Given the description of an element on the screen output the (x, y) to click on. 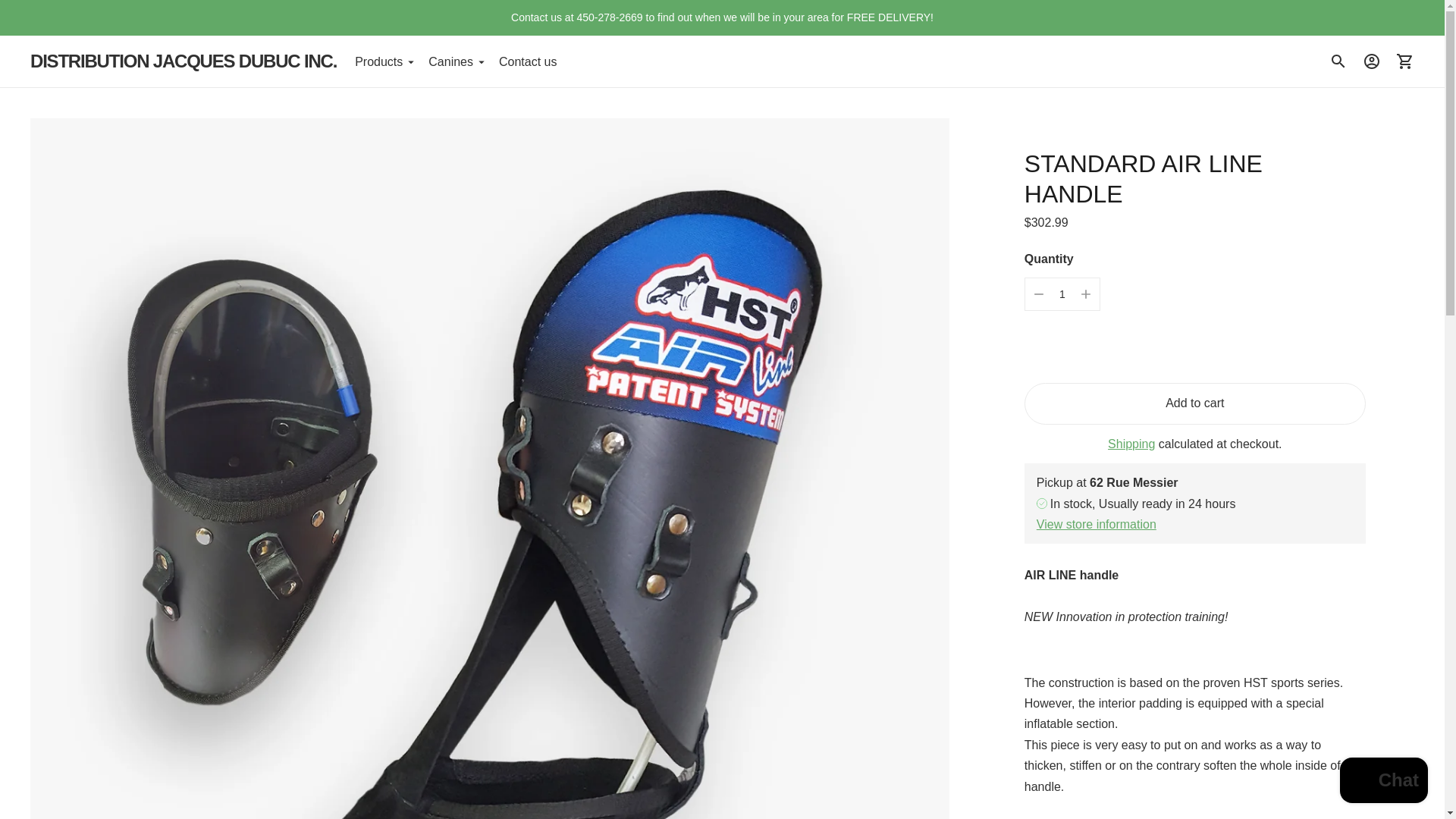
Canines (455, 61)
Products (384, 61)
DISTRIBUTION JACQUES DUBUC INC. (183, 61)
Search (1338, 61)
Cart (1405, 61)
Account (1372, 61)
